Given the description of an element on the screen output the (x, y) to click on. 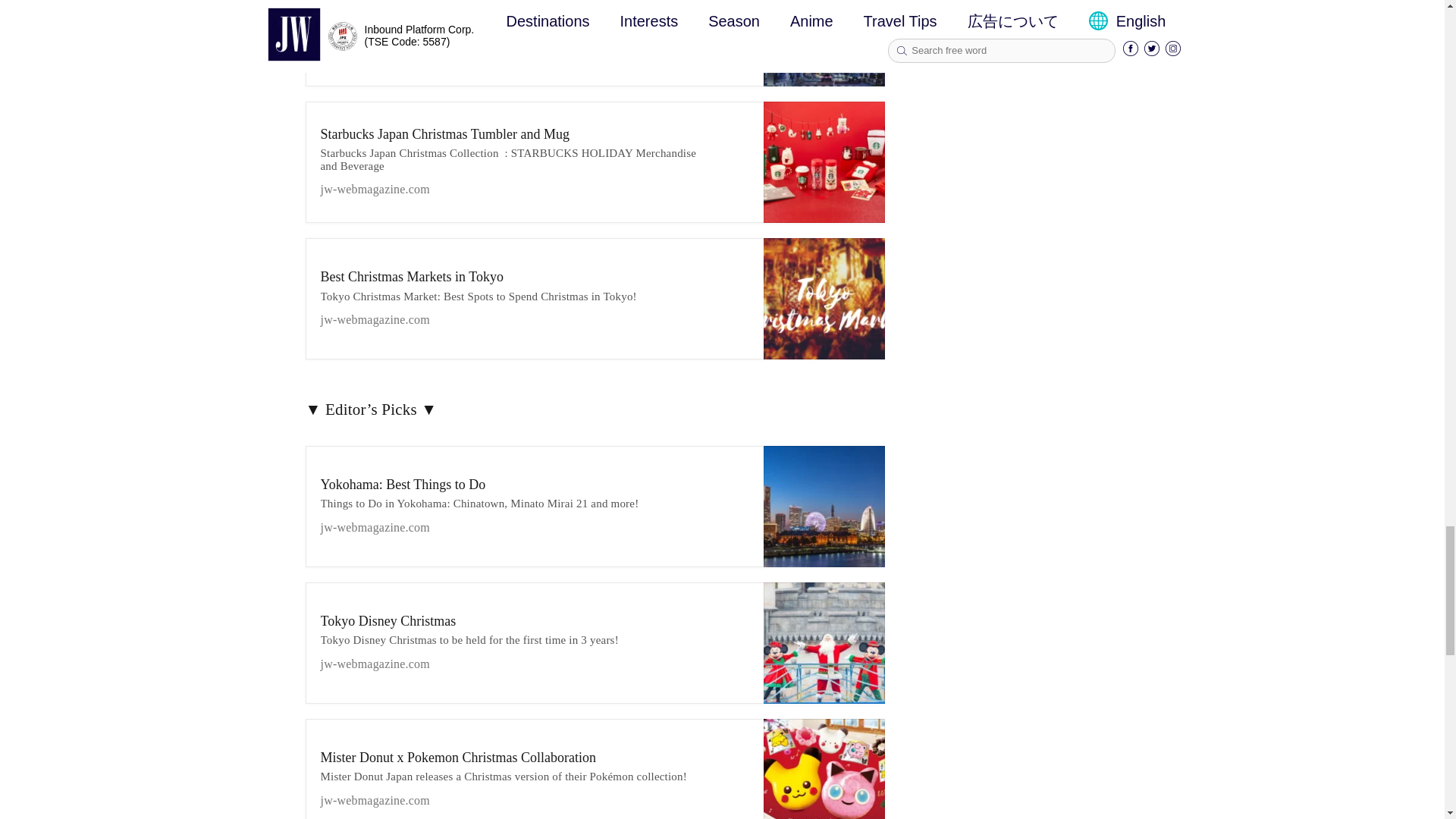
Tokyo Winter Illumination Guide (533, 38)
Tokyo Winter Illumination Guide (822, 43)
